Given the description of an element on the screen output the (x, y) to click on. 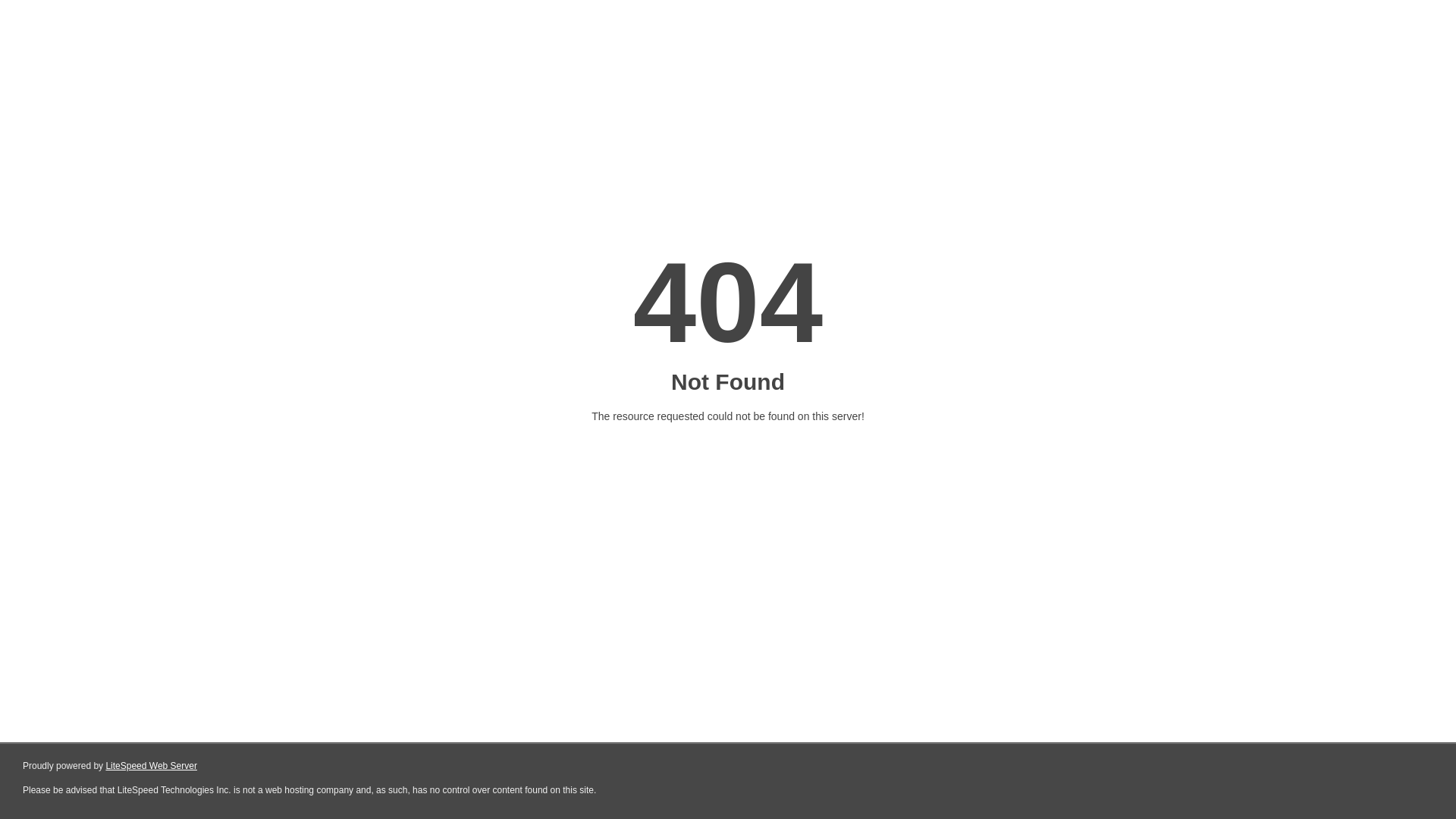
LiteSpeed Web Server Element type: text (151, 765)
